Given the description of an element on the screen output the (x, y) to click on. 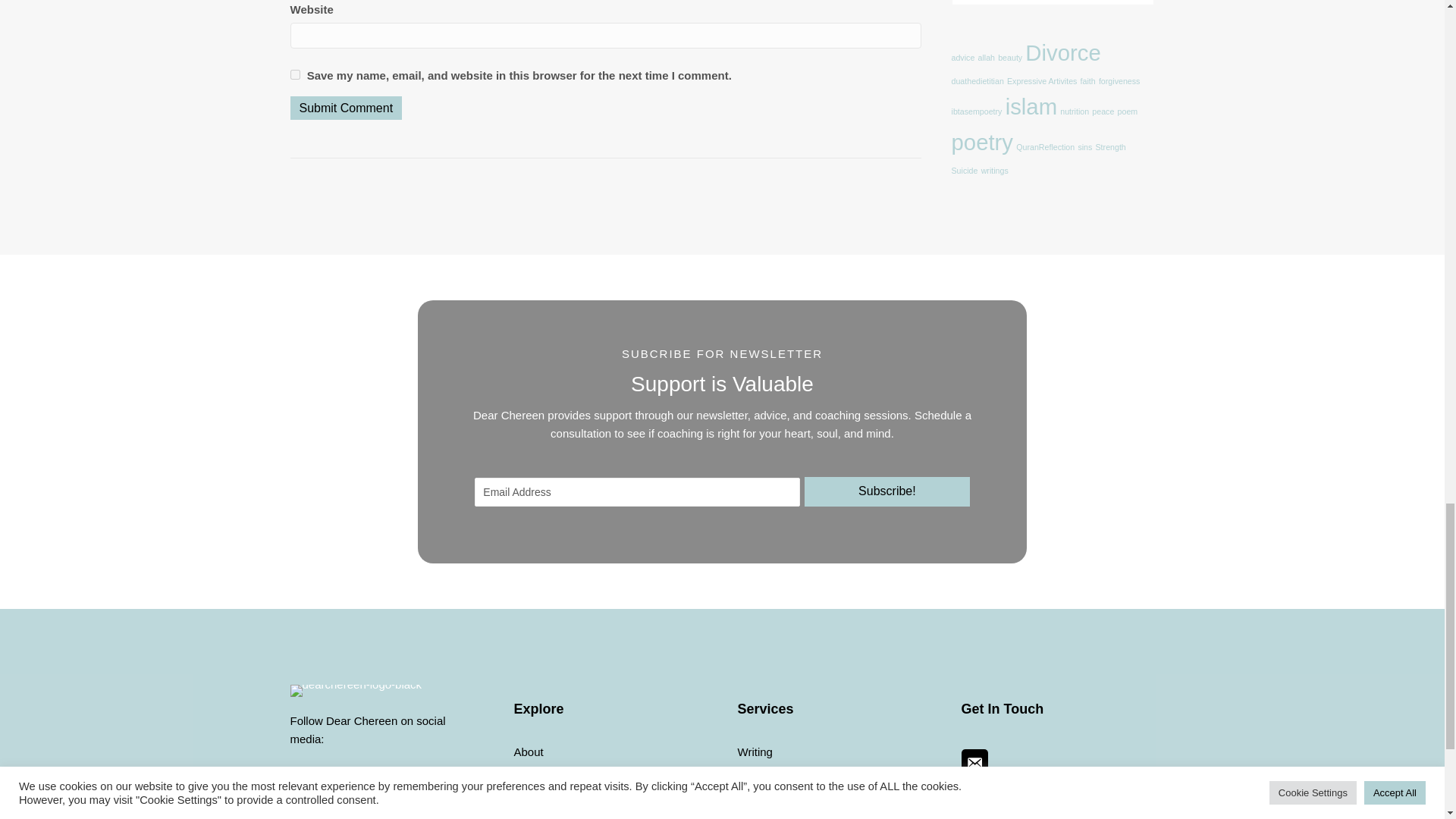
yes (294, 74)
Submit Comment (345, 107)
dearchereen-logo-black (355, 690)
